Given the description of an element on the screen output the (x, y) to click on. 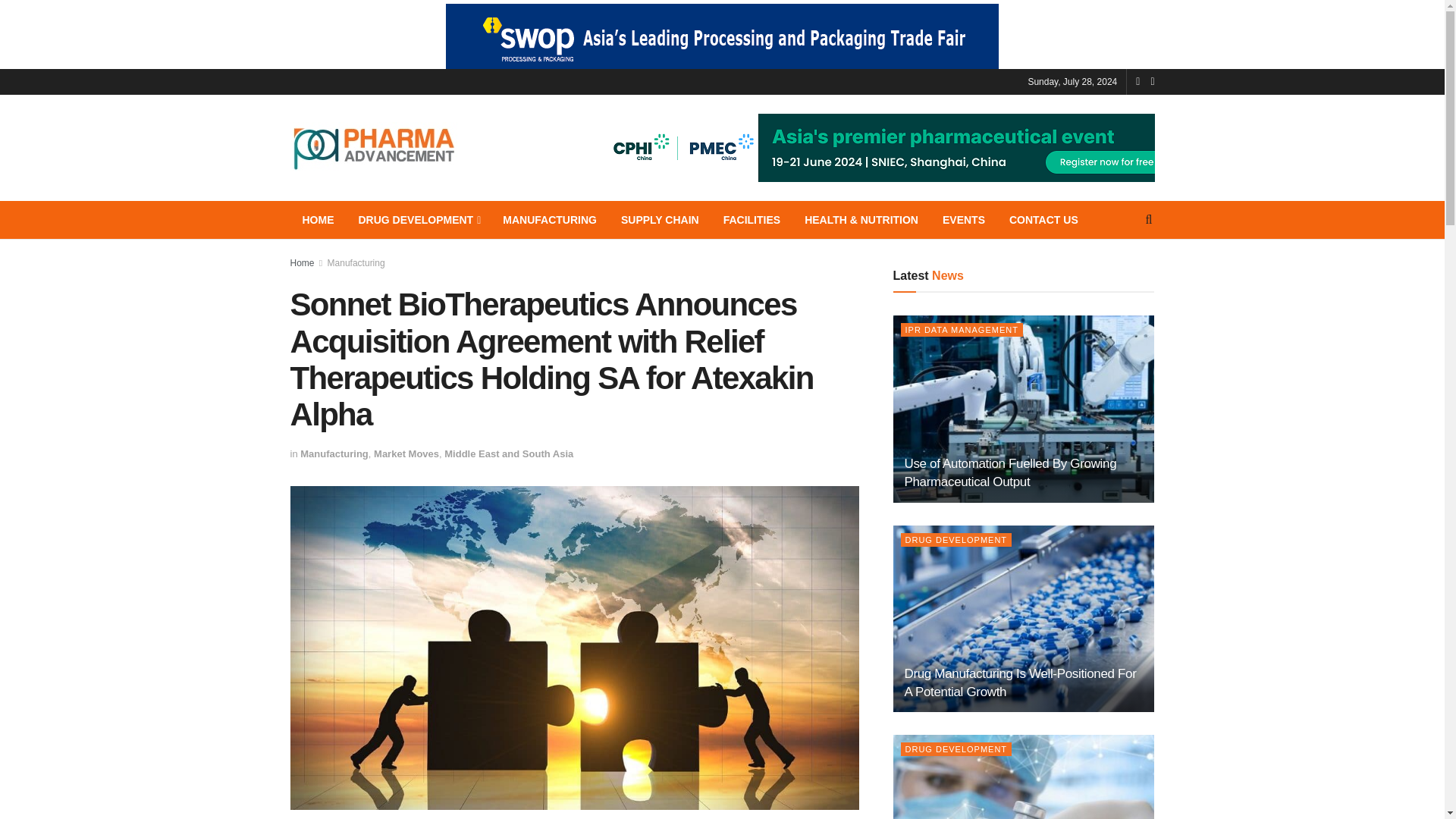
CONTACT US (1043, 219)
SUPPLY CHAIN (659, 219)
DRUG DEVELOPMENT (418, 219)
HOME (317, 219)
MANUFACTURING (549, 219)
FACILITIES (751, 219)
EVENTS (963, 219)
